Given the description of an element on the screen output the (x, y) to click on. 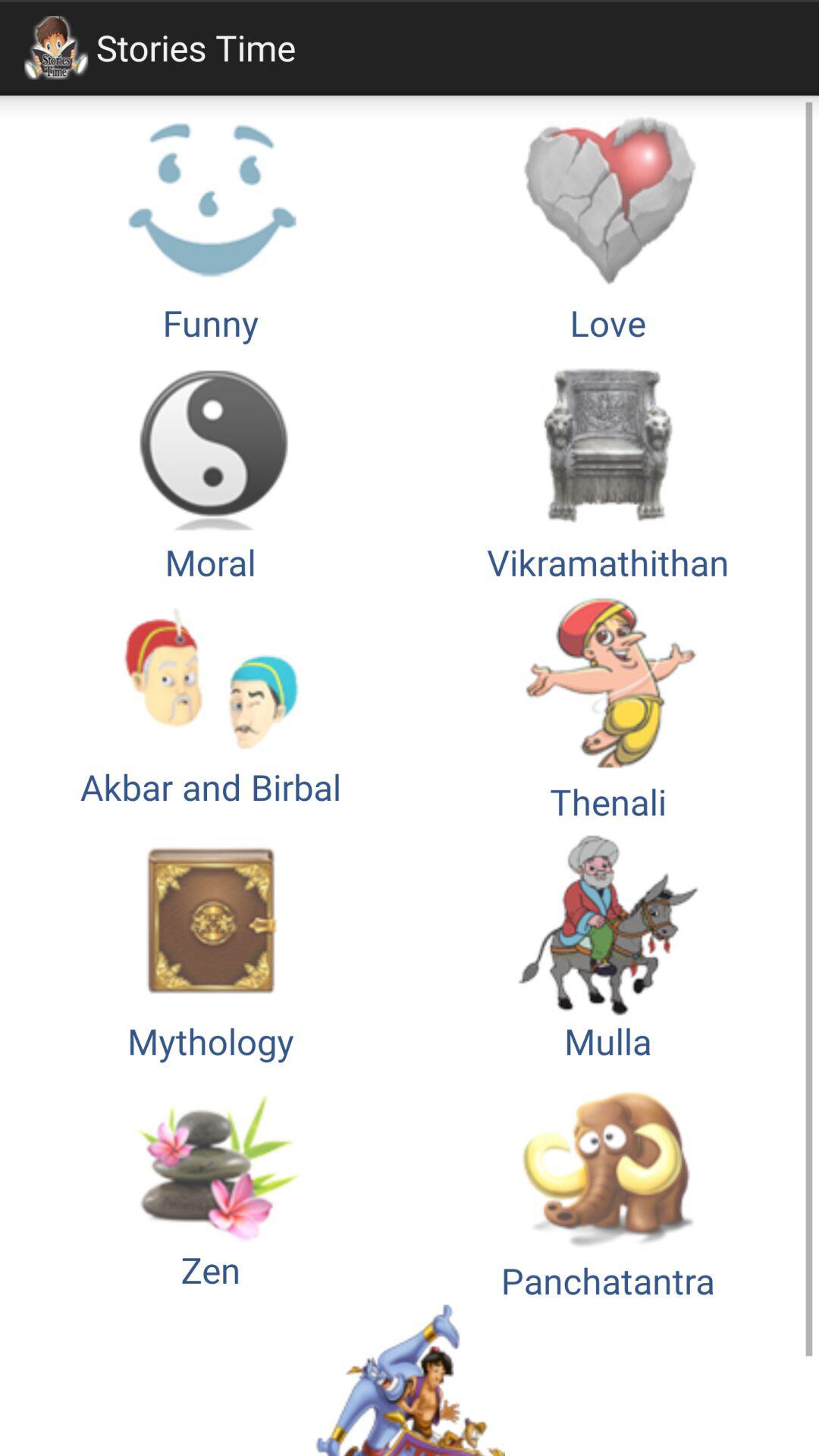
open the button at the bottom left corner (210, 1184)
